Given the description of an element on the screen output the (x, y) to click on. 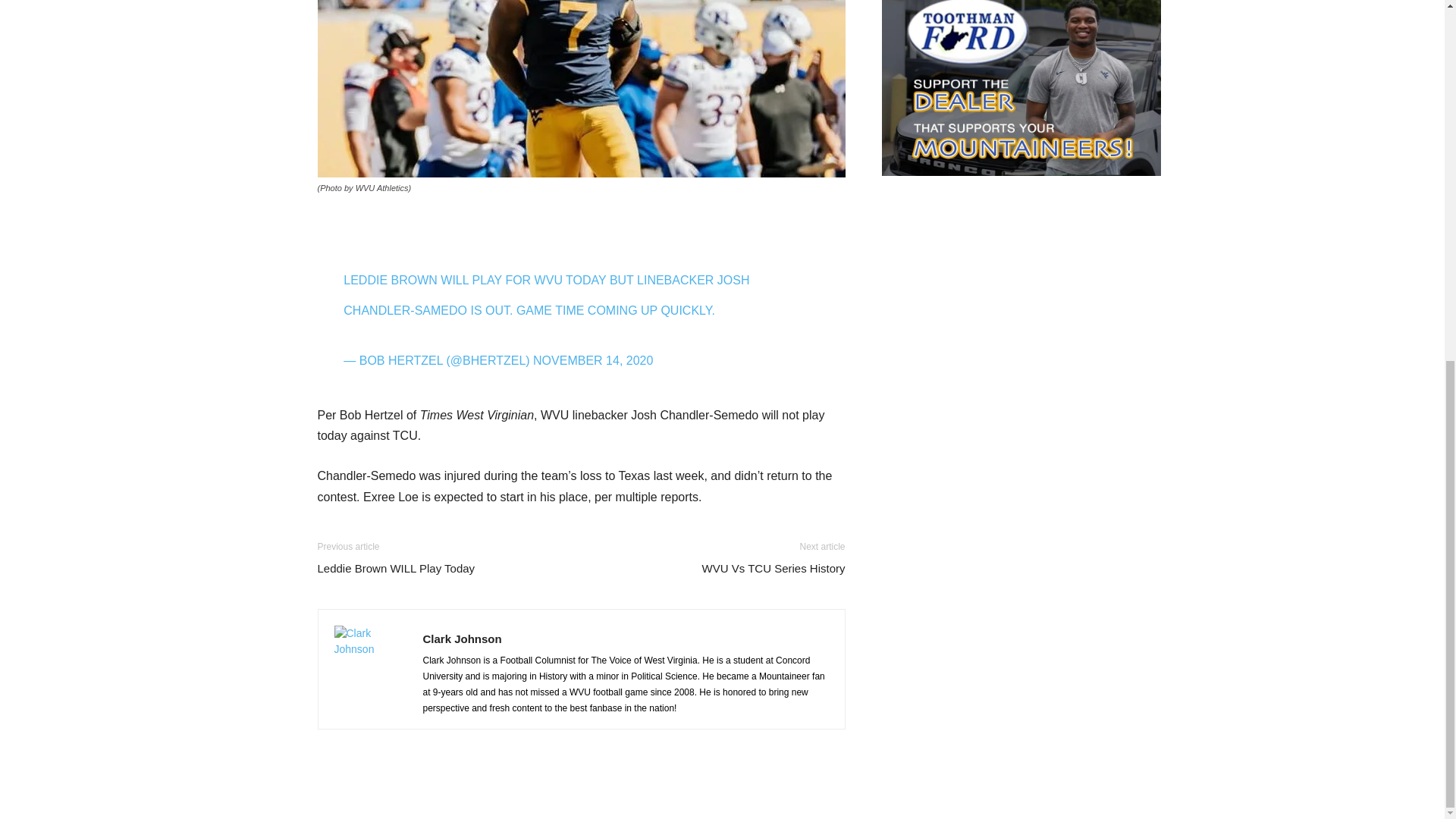
NOVEMBER 14, 2020 (592, 359)
Leddie Brown WILL Play Today (395, 568)
WVU Vs TCU Series History (773, 568)
Clark Johnson (462, 638)
9E2EC511-CA57-439C-9658-86121CFD1630 (580, 88)
